Given the description of an element on the screen output the (x, y) to click on. 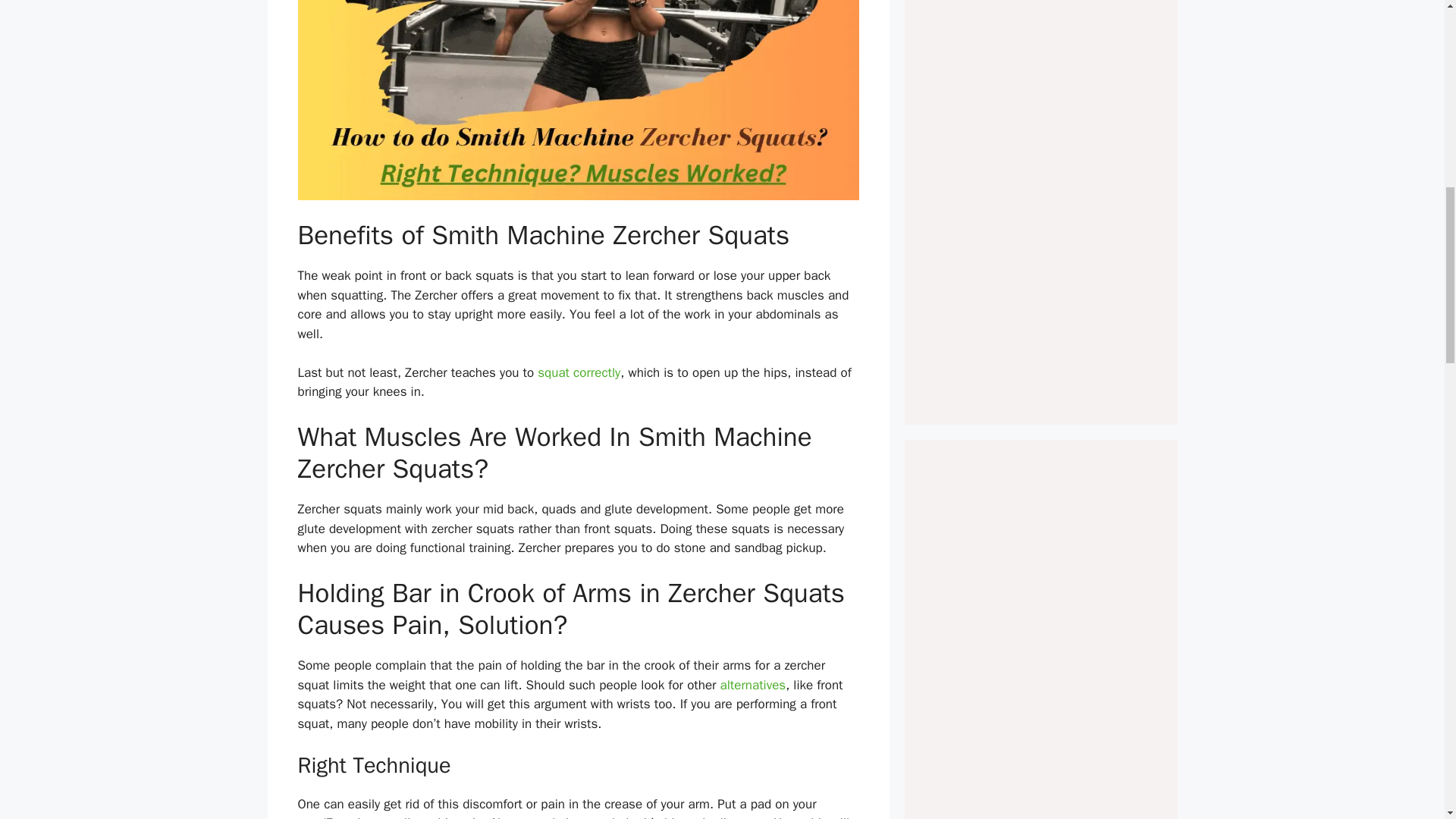
alternatives (753, 684)
Scroll back to top (1406, 720)
squat correctly (578, 372)
